Given the description of an element on the screen output the (x, y) to click on. 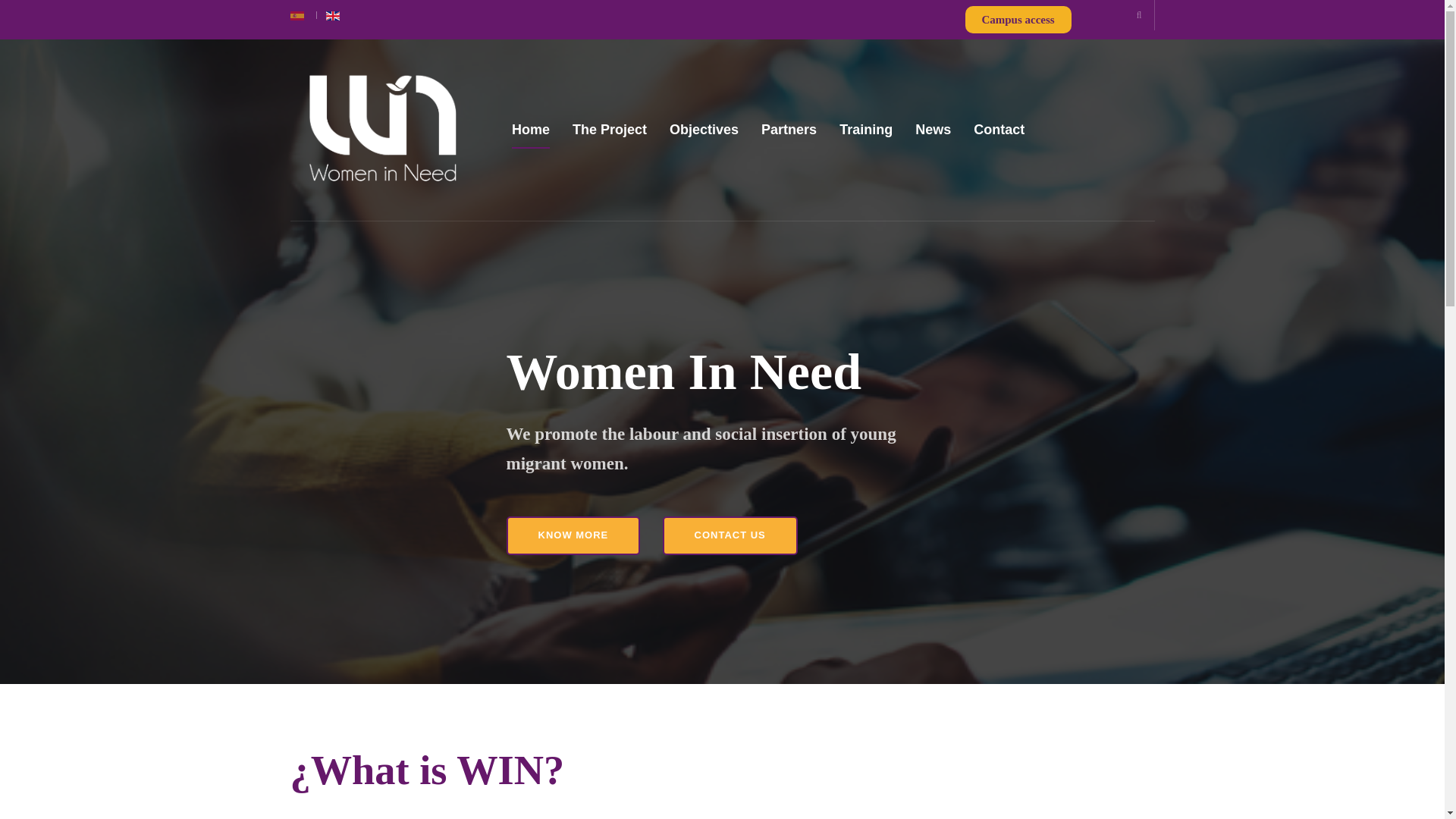
KNOW MORE (573, 535)
Home (531, 129)
News (932, 129)
Campus access (1017, 19)
WIN - Women in Need (381, 130)
Partners (788, 129)
Contact (999, 129)
The Project (609, 129)
CONTACT US (729, 535)
Training (866, 129)
Objectives (703, 129)
